Given the description of an element on the screen output the (x, y) to click on. 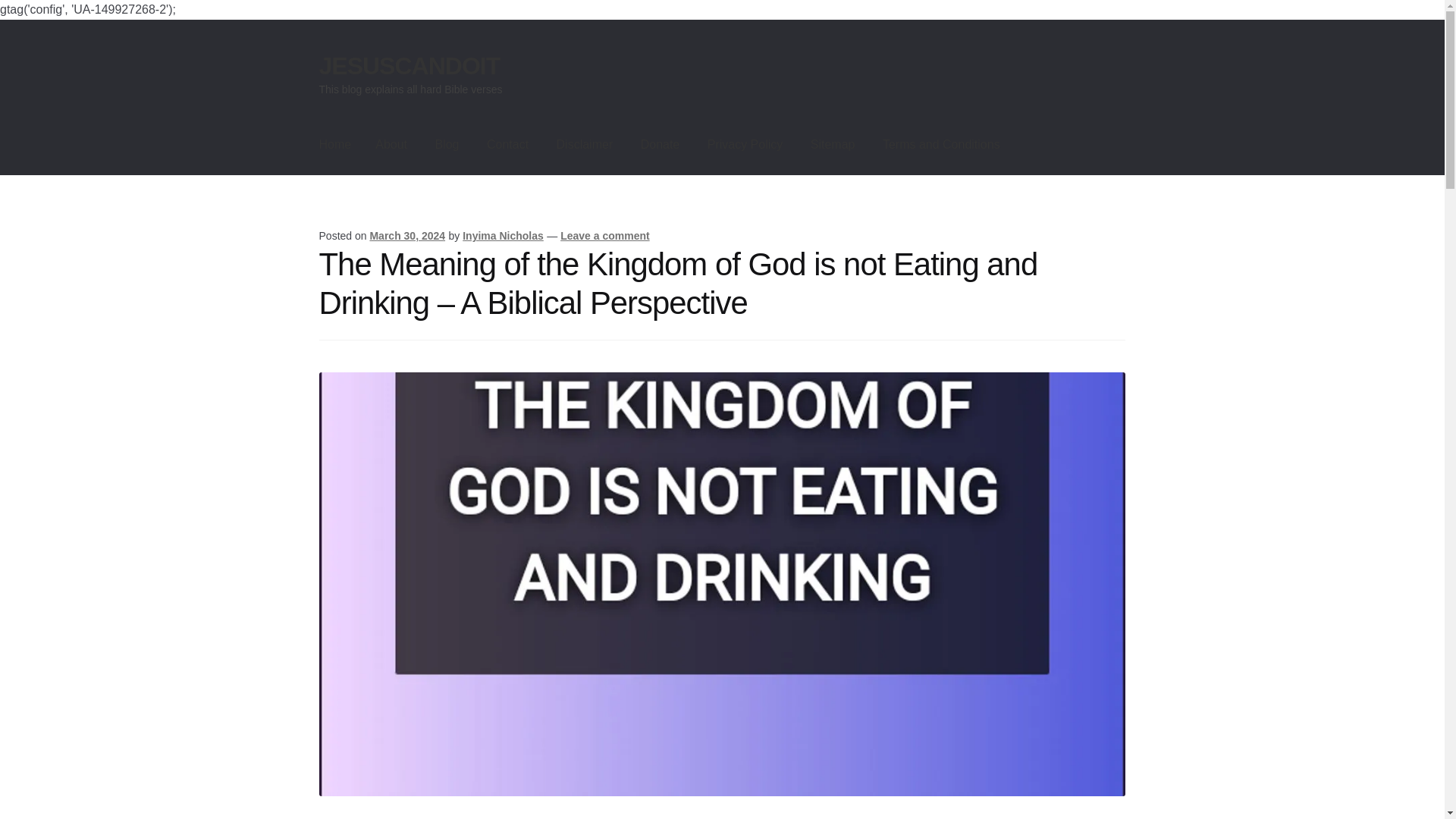
March 30, 2024 (407, 235)
Home (335, 144)
Disclaimer (585, 144)
Inyima Nicholas (503, 235)
Terms and Conditions (940, 144)
Donate (660, 144)
Privacy Policy (744, 144)
Leave a comment (604, 235)
Contact (507, 144)
About (390, 144)
JESUSCANDOIT (409, 65)
Sitemap (832, 144)
